Given the description of an element on the screen output the (x, y) to click on. 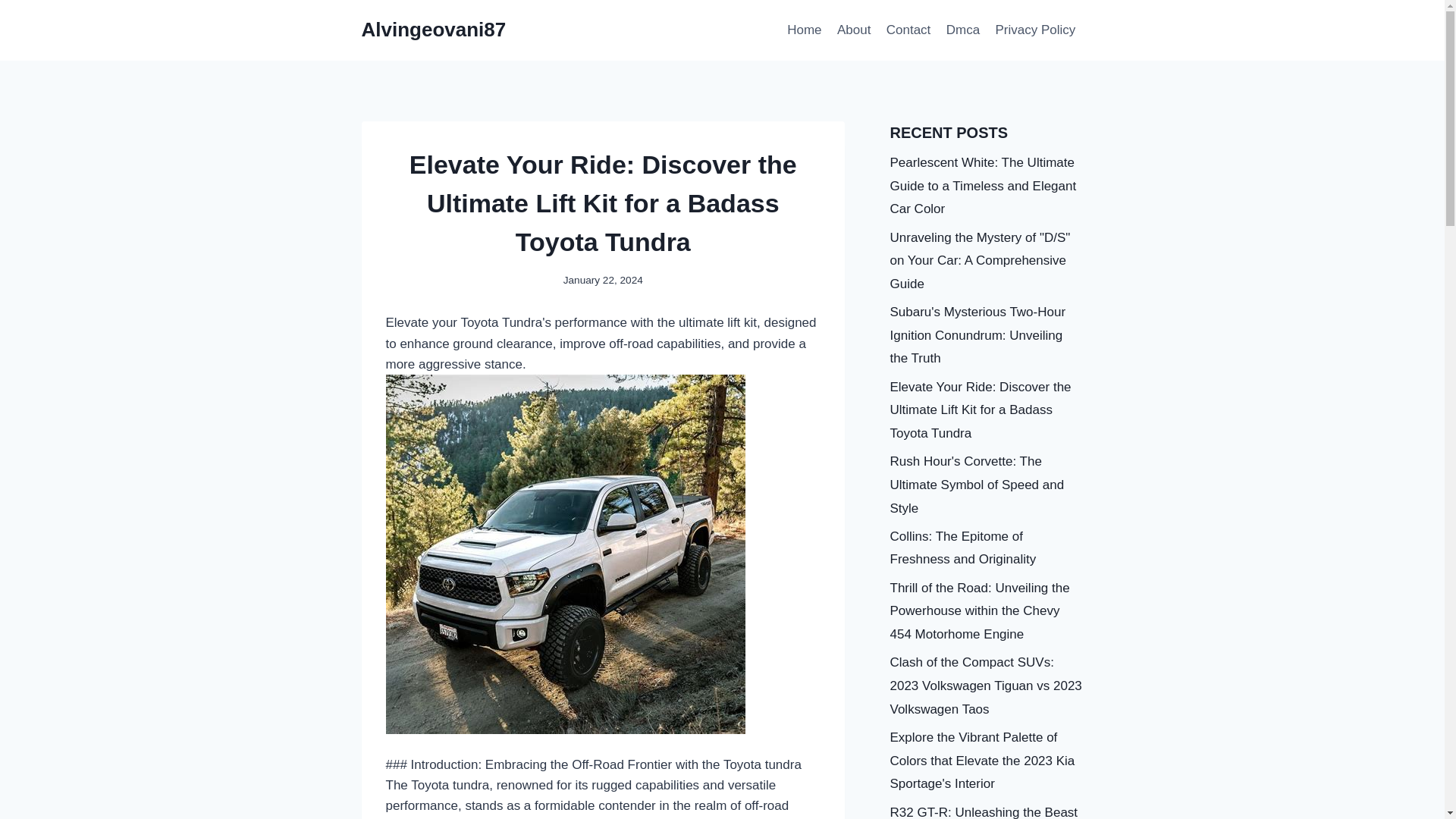
Dmca (963, 30)
Home (803, 30)
Collins: The Epitome of Freshness and Originality (962, 548)
Alvingeovani87 (433, 29)
Privacy Policy (1035, 30)
About (854, 30)
Contact (909, 30)
Rush Hour's Corvette: The Ultimate Symbol of Speed and Style (976, 484)
